Given the description of an element on the screen output the (x, y) to click on. 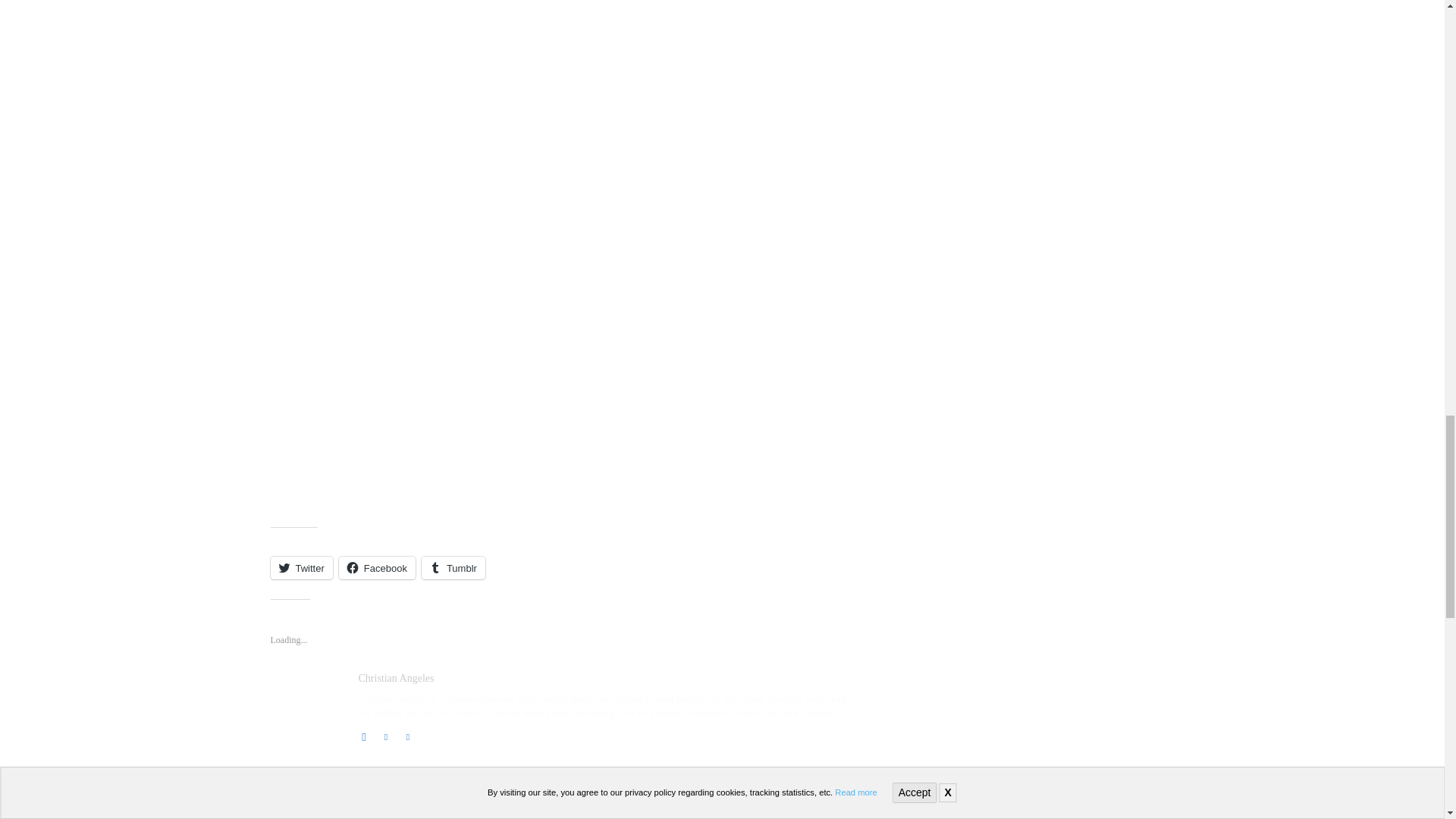
Christian Angeles (305, 707)
Linkedin (385, 734)
Click to share on Facebook (376, 567)
Instagram (363, 734)
Click to share on Twitter (300, 567)
Twitter (407, 734)
Click to share on Tumblr (453, 567)
